Given the description of an element on the screen output the (x, y) to click on. 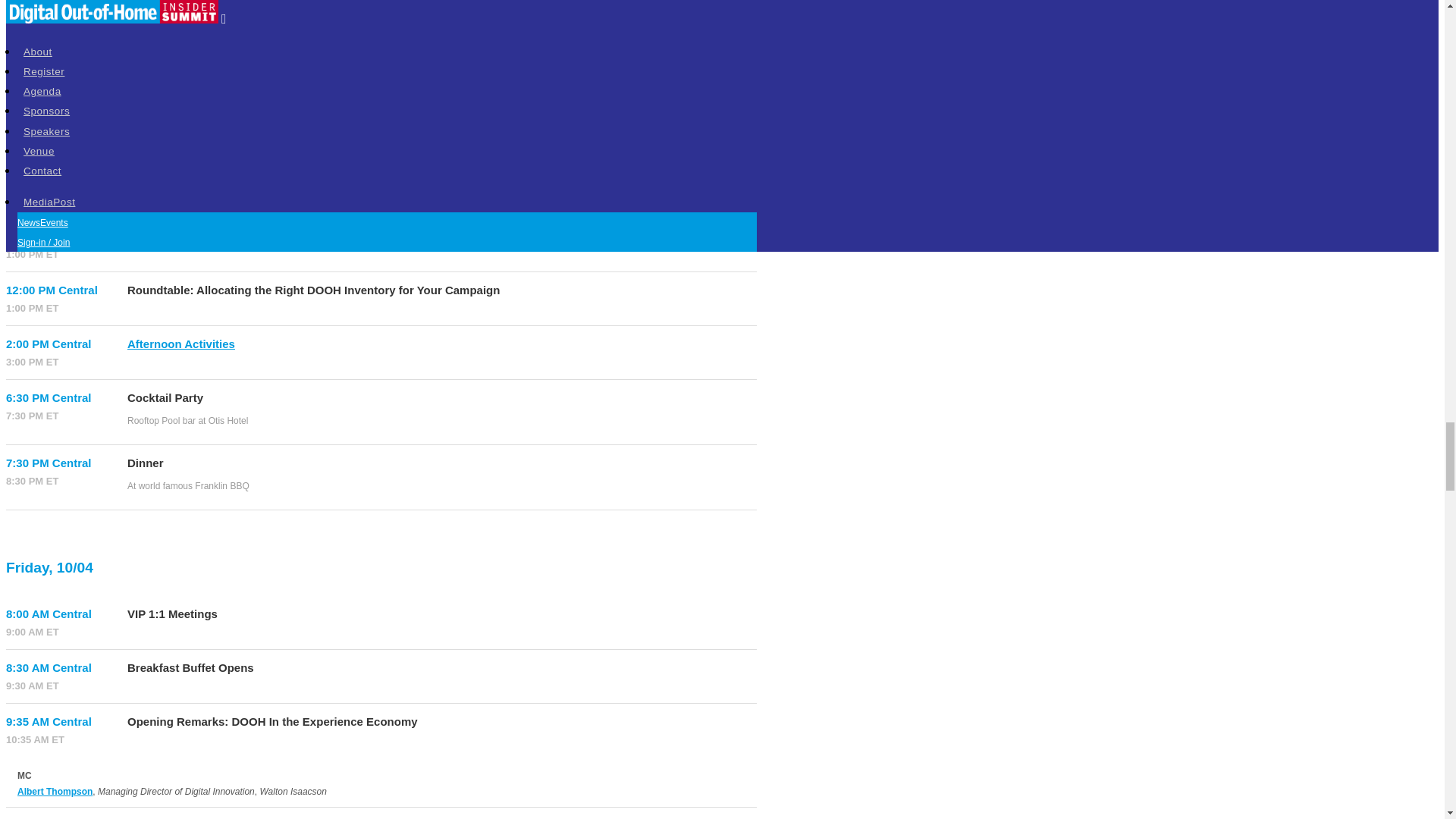
Afternoon Activities (181, 343)
Albert Thompson (55, 791)
